Given the description of an element on the screen output the (x, y) to click on. 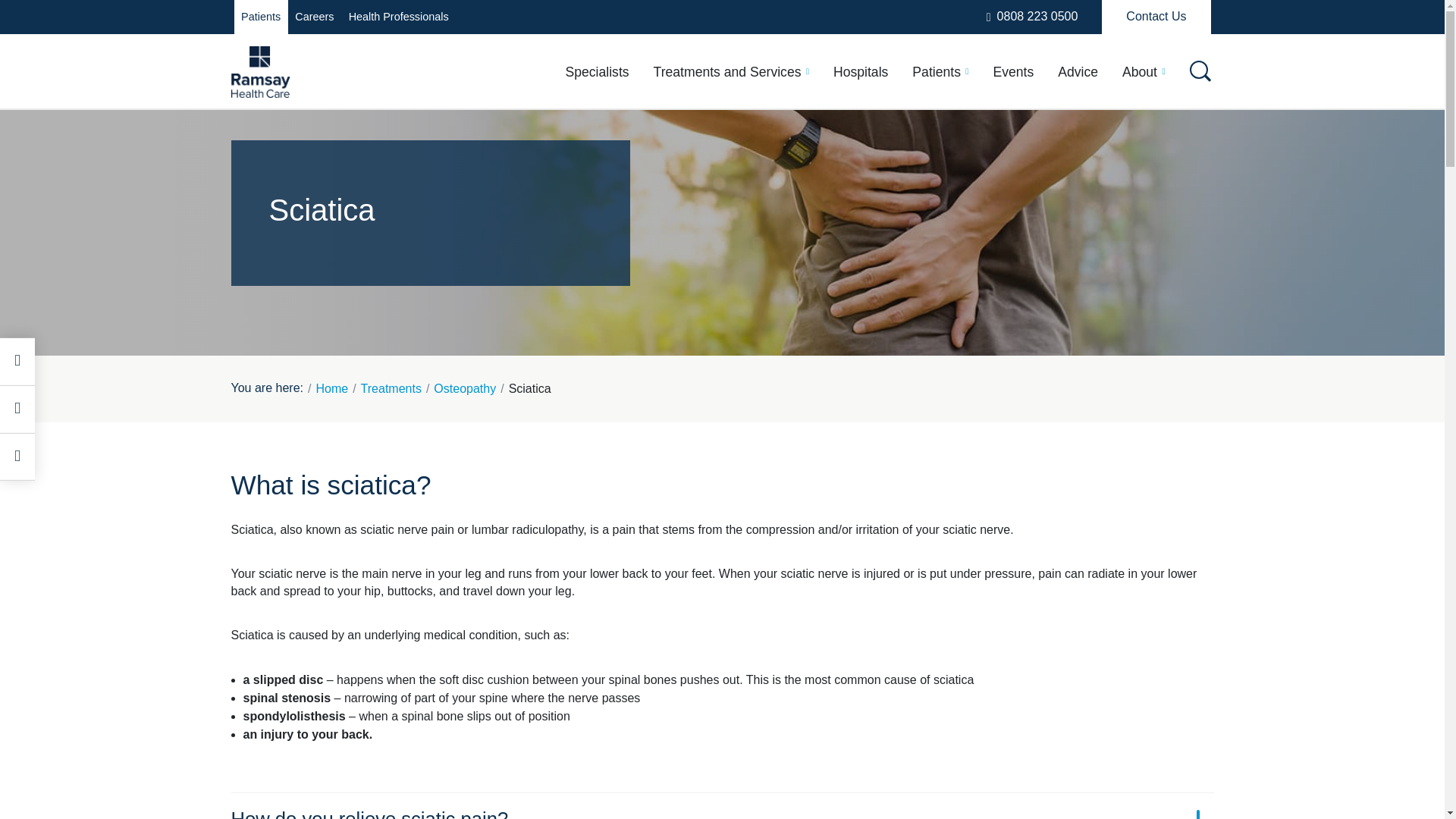
Diagnostics (478, 207)
Weight Loss Surgery (333, 320)
Ramsay Logo (259, 71)
Eye Surgery (480, 235)
Breast Enlargement (700, 207)
ACL Repair (675, 179)
Patients (259, 17)
Gallbladder Surgery (700, 235)
Cataract Surgery (863, 207)
Hernia Surgery (686, 263)
Heart Surgery (312, 291)
Hip Replacement (864, 263)
Gastric Sleeve (856, 235)
Health Professionals (397, 17)
Vasectomy (844, 320)
